Given the description of an element on the screen output the (x, y) to click on. 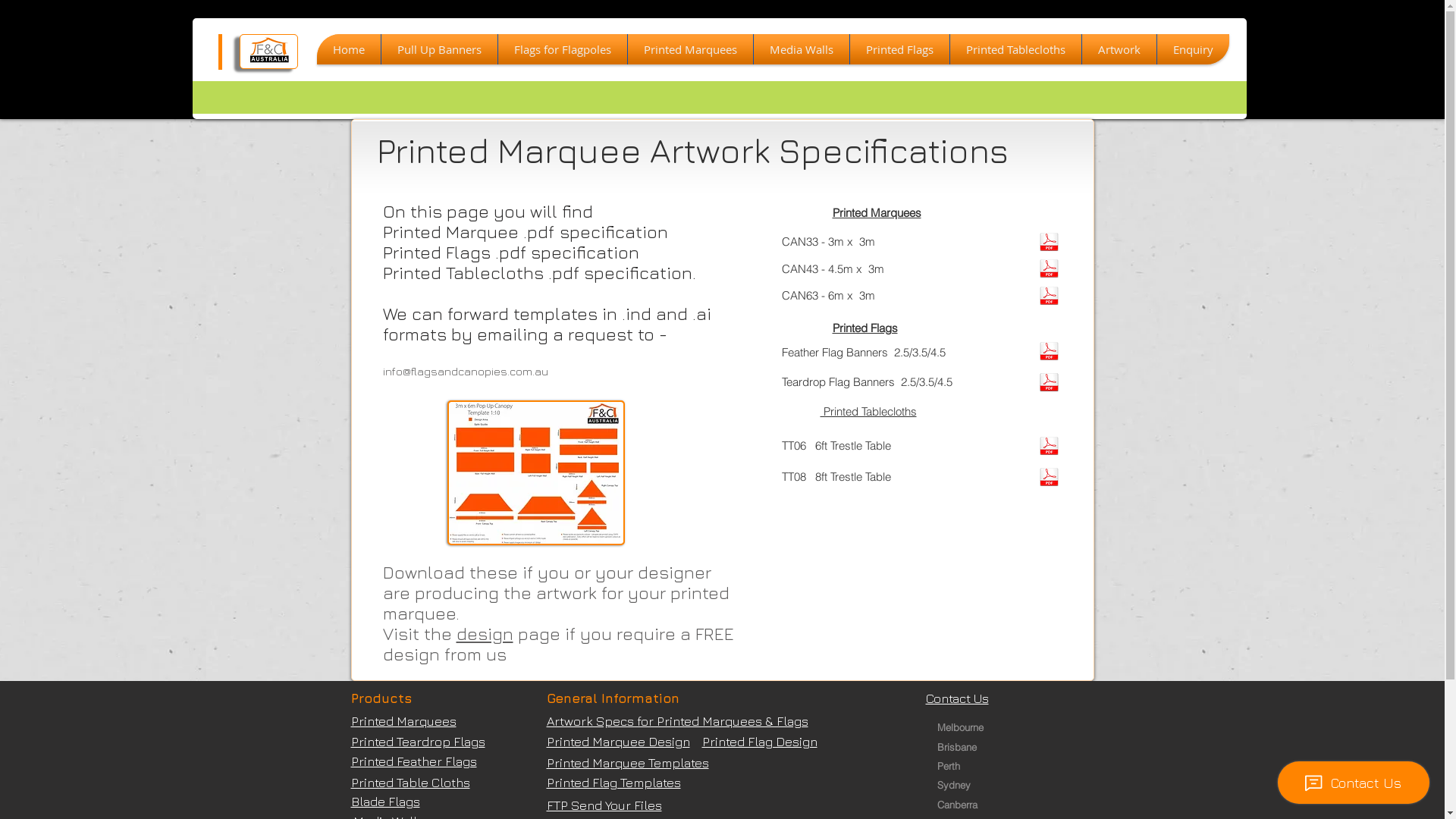
Perth            Element type: text (965, 765)
info@flagsandcanopies.com.au Element type: text (464, 370)
Sydney        Element type: text (964, 784)
Contact Us Element type: text (956, 698)
Printed Flag Design Element type: text (759, 741)
Printed Flag Templates Element type: text (613, 782)
Pull Up Banners Element type: text (438, 49)
General Information Element type: text (612, 698)
Printed Marquees Element type: text (402, 720)
Printed Table Cloths Element type: text (409, 782)
Media Walls Element type: text (801, 49)
Printed Tablecloths Element type: text (1014, 49)
Melbourne   Element type: text (963, 727)
Blade Flags Element type: text (384, 801)
design Element type: text (484, 633)
Home Element type: text (348, 49)
f--c-reversed-_d200.jpg Element type: hover (268, 51)
Printed Marquee Templates Element type: text (627, 762)
Flags for Flagpoles Element type: text (561, 49)
FTP Send Your Files Element type: text (603, 804)
Printed Marquee Design Element type: text (617, 741)
Printed Teardrop Flags Element type: text (417, 741)
Canberra     Element type: text (963, 804)
Artwork Specs for Printed Marquees & Flags Element type: text (676, 720)
Printed Feather Flags Element type: text (413, 760)
Brisbane     Element type: text (962, 746)
